Given the description of an element on the screen output the (x, y) to click on. 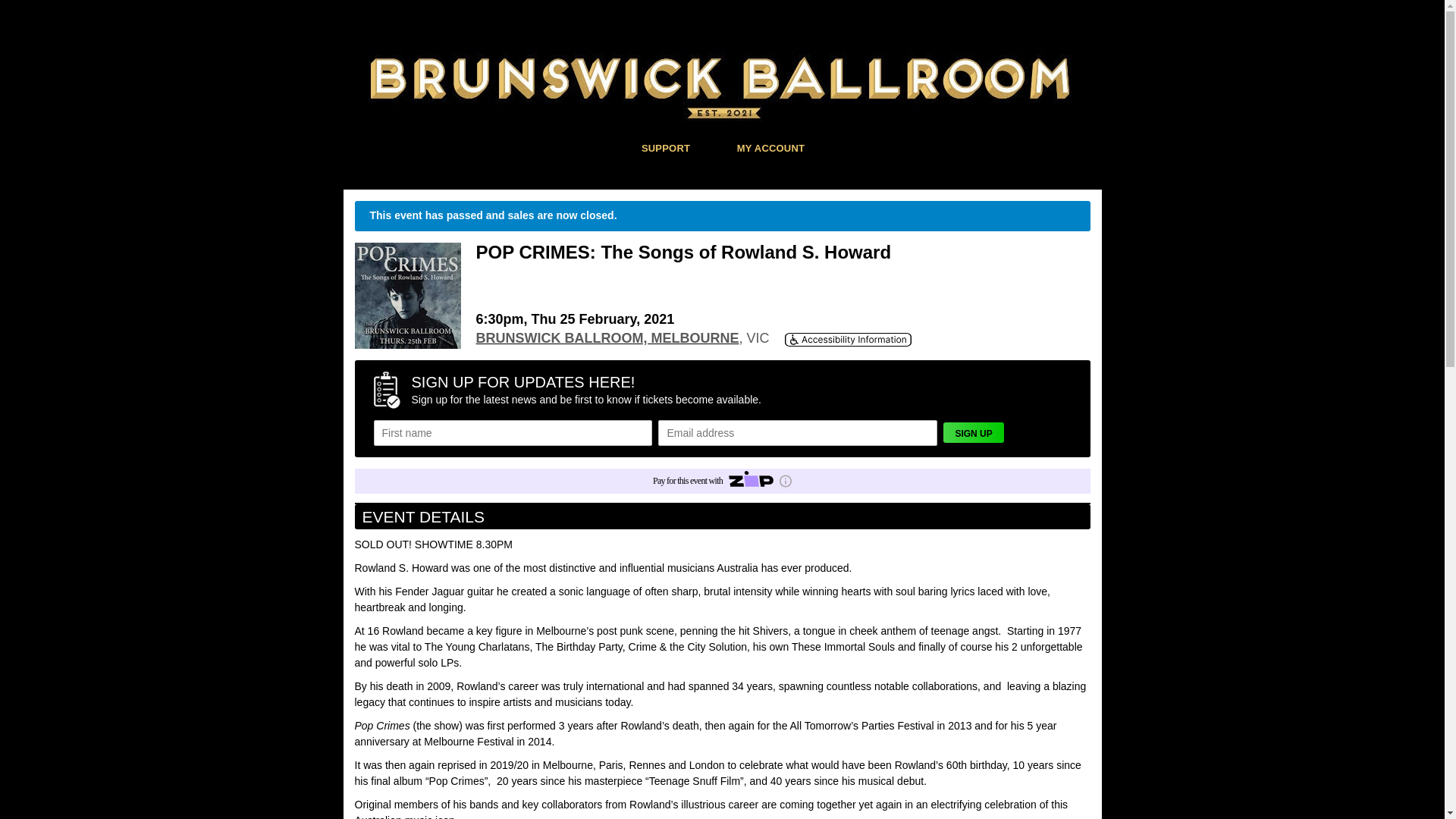
SUPPORT Element type: text (665, 147)
MY ACCOUNT Element type: text (770, 147)
SIGN UP Element type: text (973, 432)
BRUNSWICK BALLROOM, MELBOURNE Element type: text (607, 337)
